Given the description of an element on the screen output the (x, y) to click on. 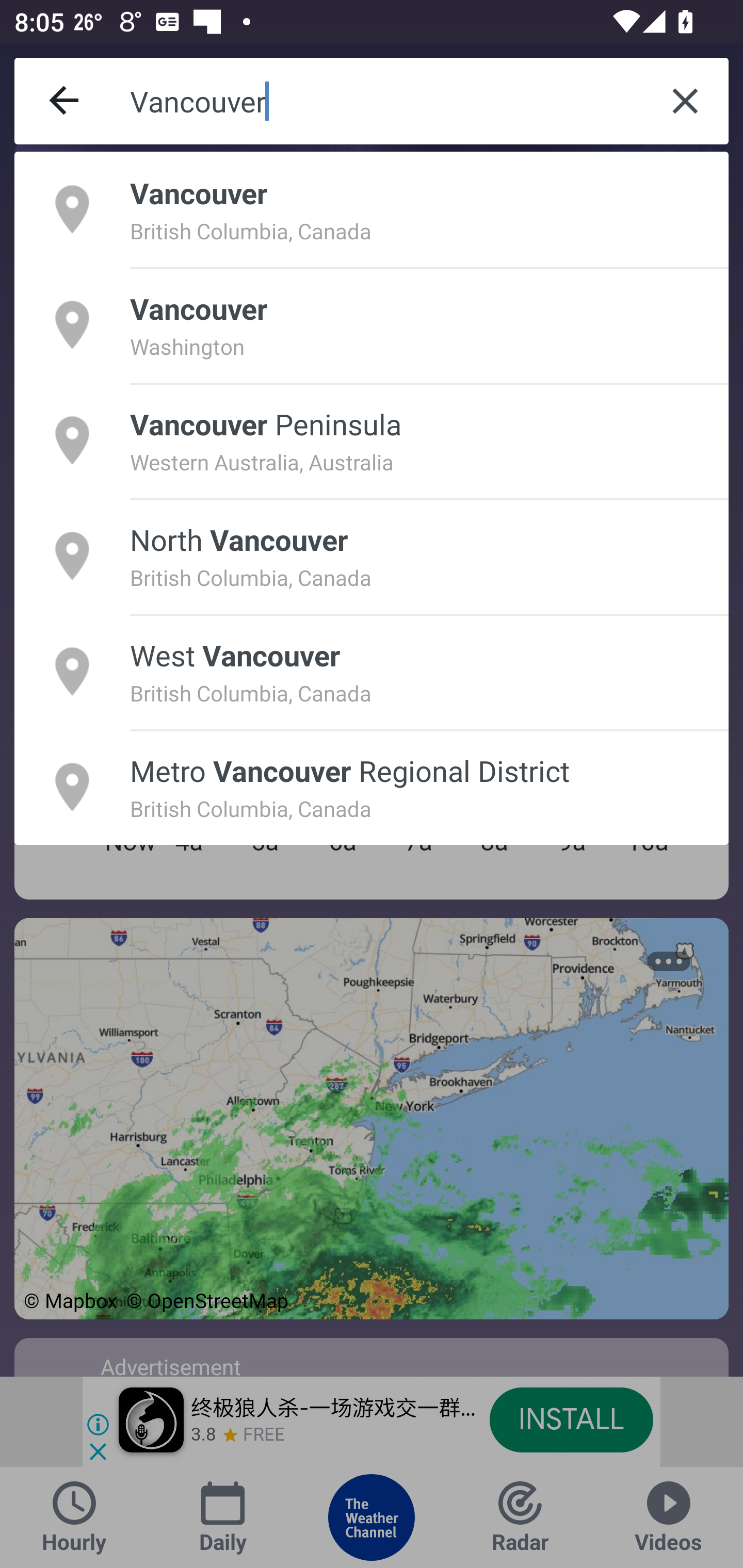
Back (64, 101)
Clear (684, 101)
Vancouver (385, 100)
Vancouver British Columbia, Canada (371, 209)
Vancouver Washington (371, 324)
Vancouver Peninsula Western Australia, Australia (371, 440)
North Vancouver British Columbia, Canada (371, 555)
West Vancouver British Columbia, Canada (371, 671)
